Given the description of an element on the screen output the (x, y) to click on. 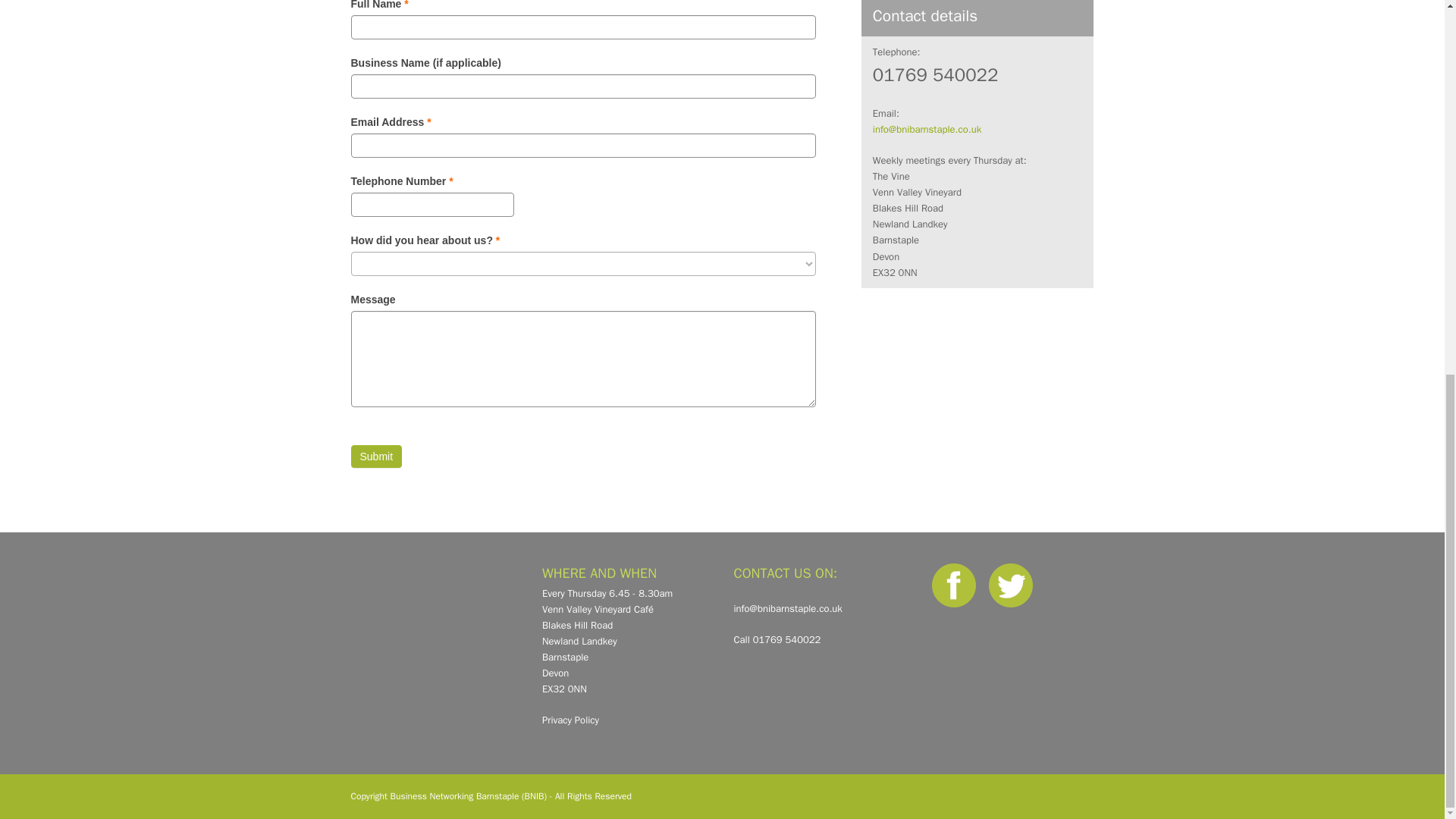
Submit (375, 456)
Privacy Policy (569, 719)
Google Map (434, 628)
Submit (375, 456)
